Given the description of an element on the screen output the (x, y) to click on. 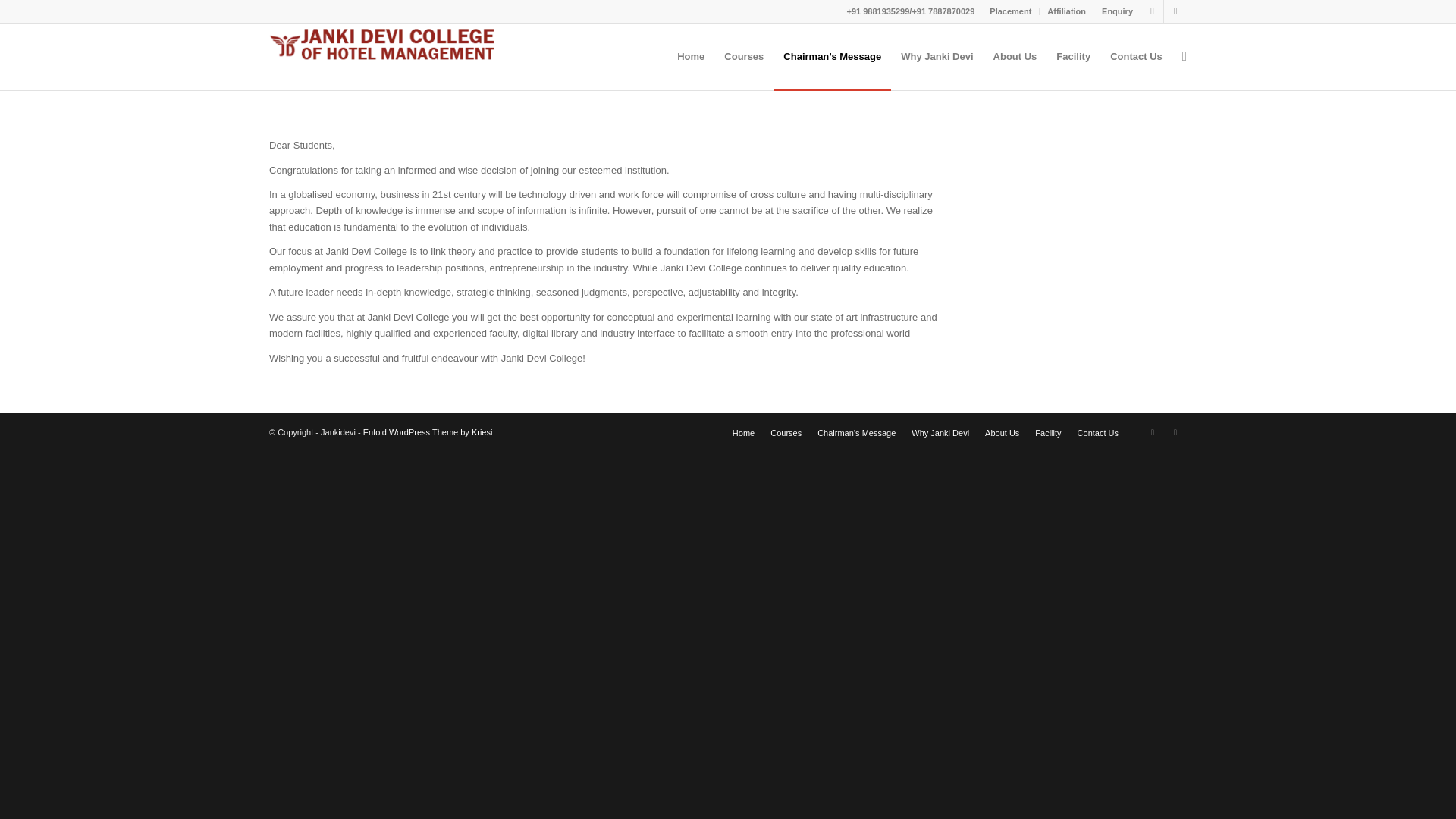
Home (690, 56)
Twitter (1174, 11)
Courses (743, 56)
Affiliation (1066, 11)
Twitter (1174, 431)
Facebook (1152, 11)
Placement (1010, 11)
Facebook (1152, 431)
Enquiry (1117, 11)
